Given the description of an element on the screen output the (x, y) to click on. 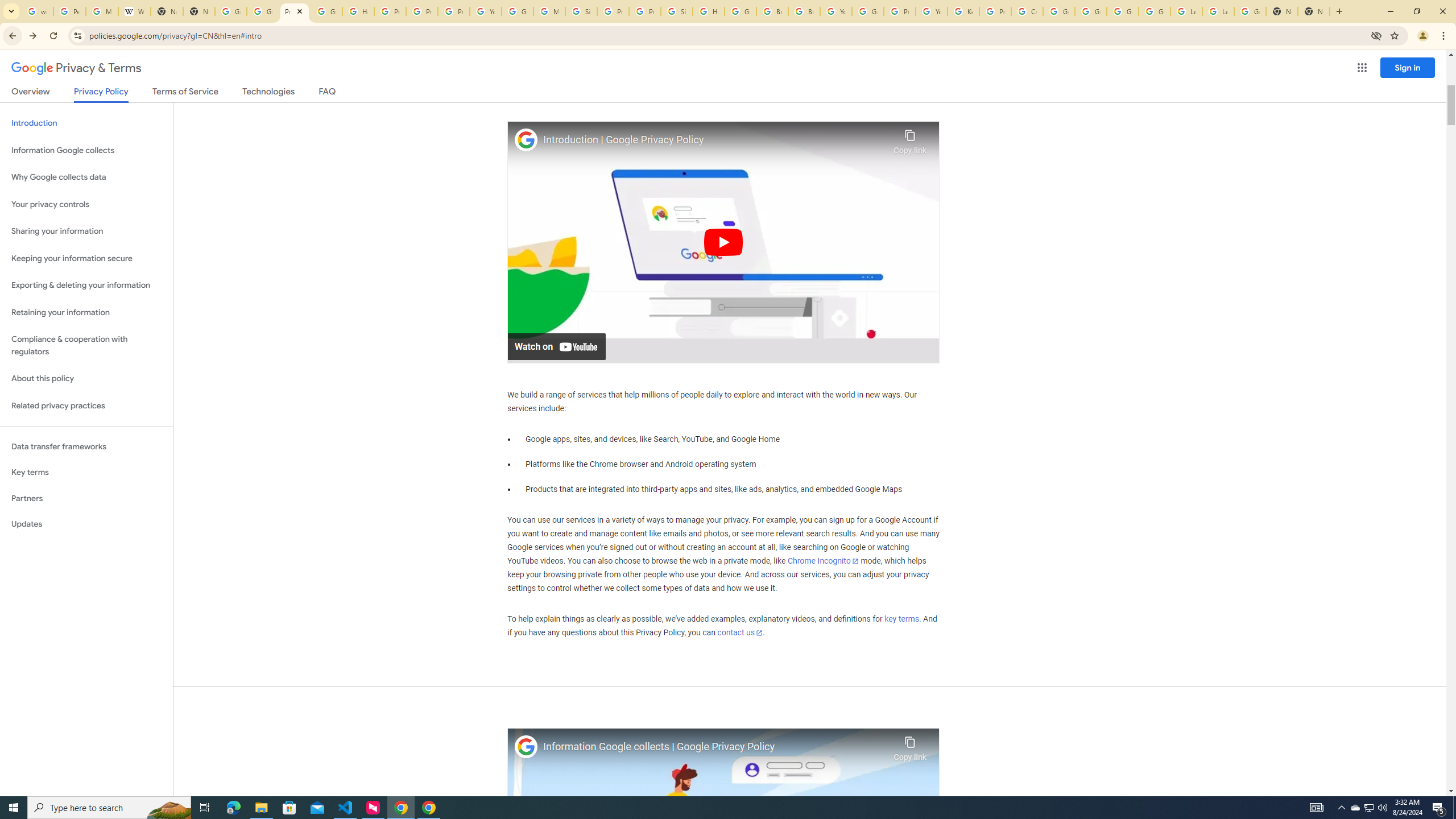
Compliance & cooperation with regulators (86, 345)
Technologies (268, 93)
Sign in - Google Accounts (676, 11)
Introduction | Google Privacy Policy (715, 139)
Privacy Policy (100, 94)
Terms of Service (184, 93)
key terms (900, 619)
About this policy (86, 379)
Sharing your information (86, 230)
Privacy & Terms (76, 68)
Wikipedia:Edit requests - Wikipedia (134, 11)
FAQ (327, 93)
